Given the description of an element on the screen output the (x, y) to click on. 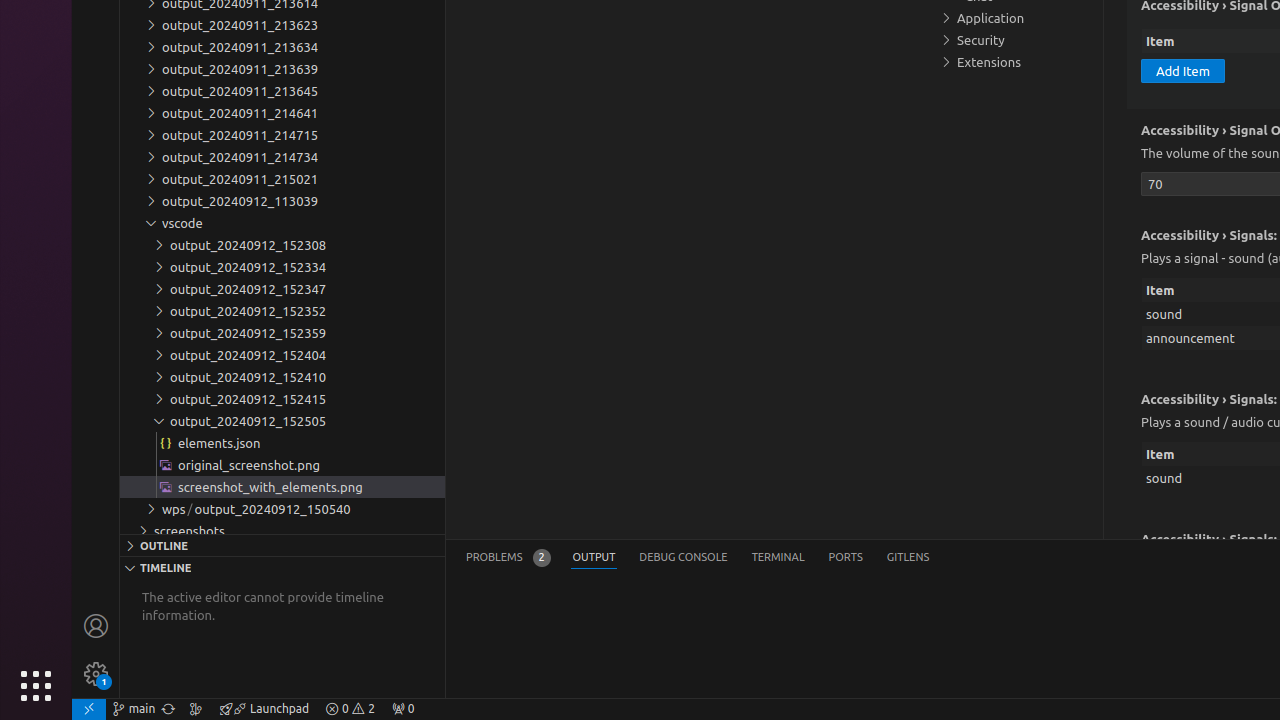
output_20240912_152410 Element type: tree-item (282, 377)
Accounts Element type: push-button (96, 626)
output_20240912_152415 Element type: tree-item (282, 399)
Application, group Element type: tree-item (1015, 18)
